Given the description of an element on the screen output the (x, y) to click on. 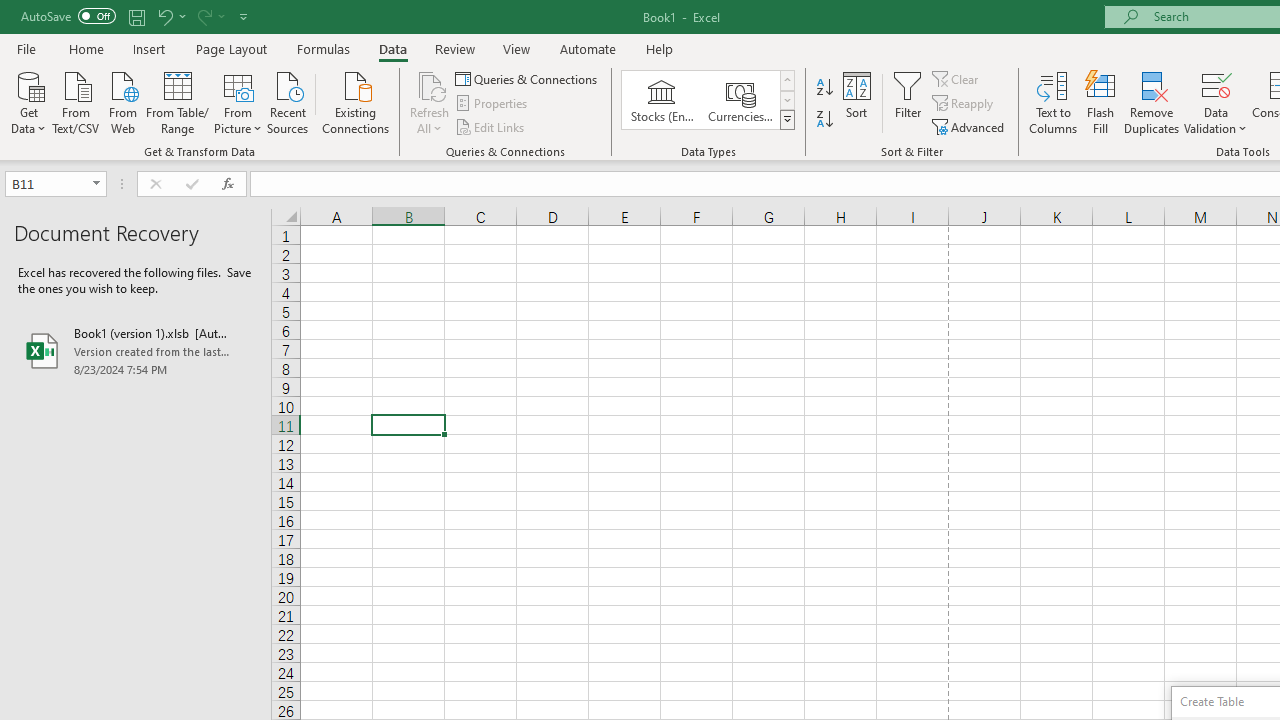
From Picture (238, 101)
Queries & Connections (527, 78)
Text to Columns... (1053, 102)
Sort... (856, 102)
Filter (908, 102)
From Table/Range (177, 101)
Edit Links (491, 126)
Currencies (English) (740, 100)
